Given the description of an element on the screen output the (x, y) to click on. 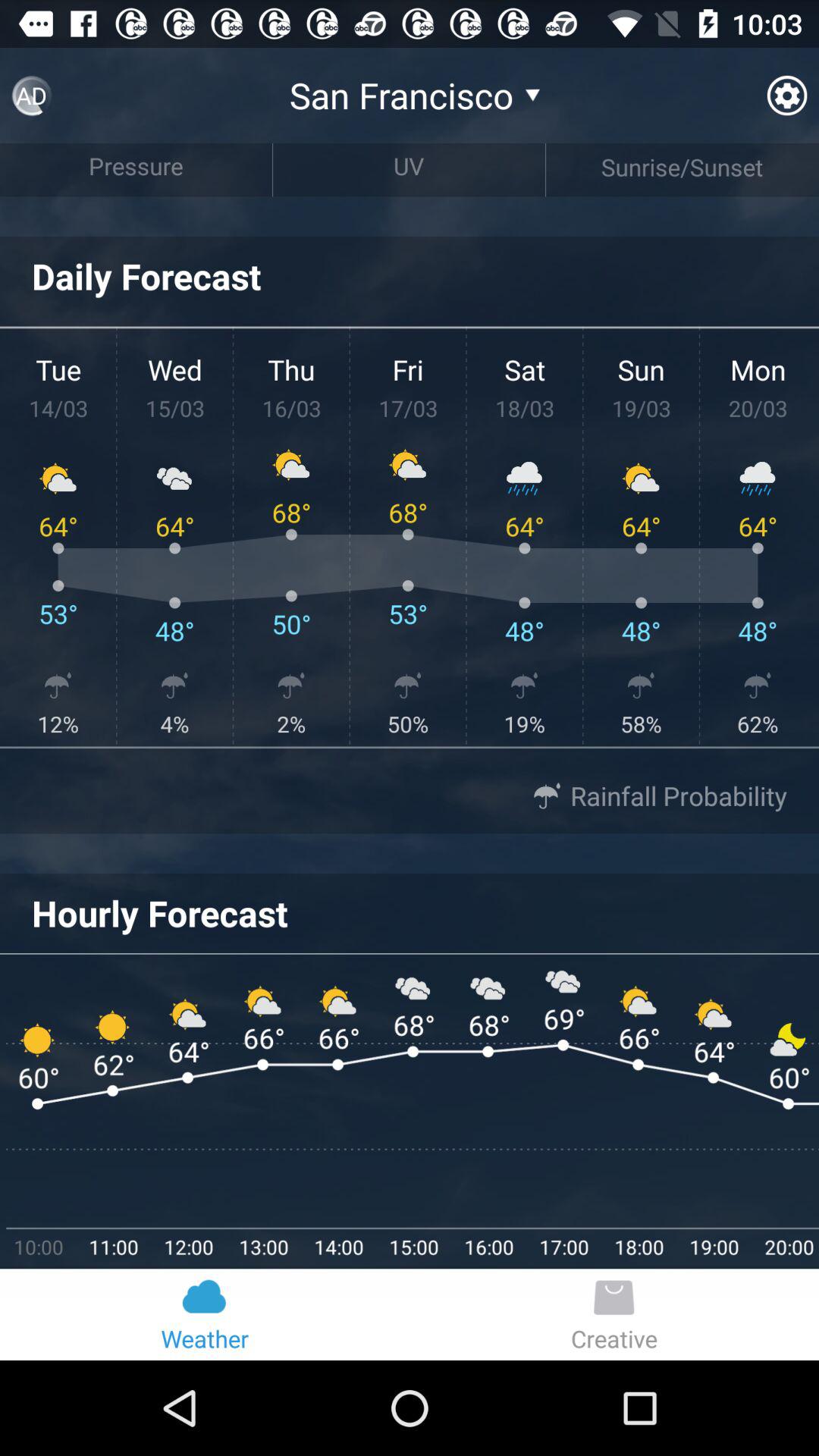
select the image above weather (204, 1297)
